Given the description of an element on the screen output the (x, y) to click on. 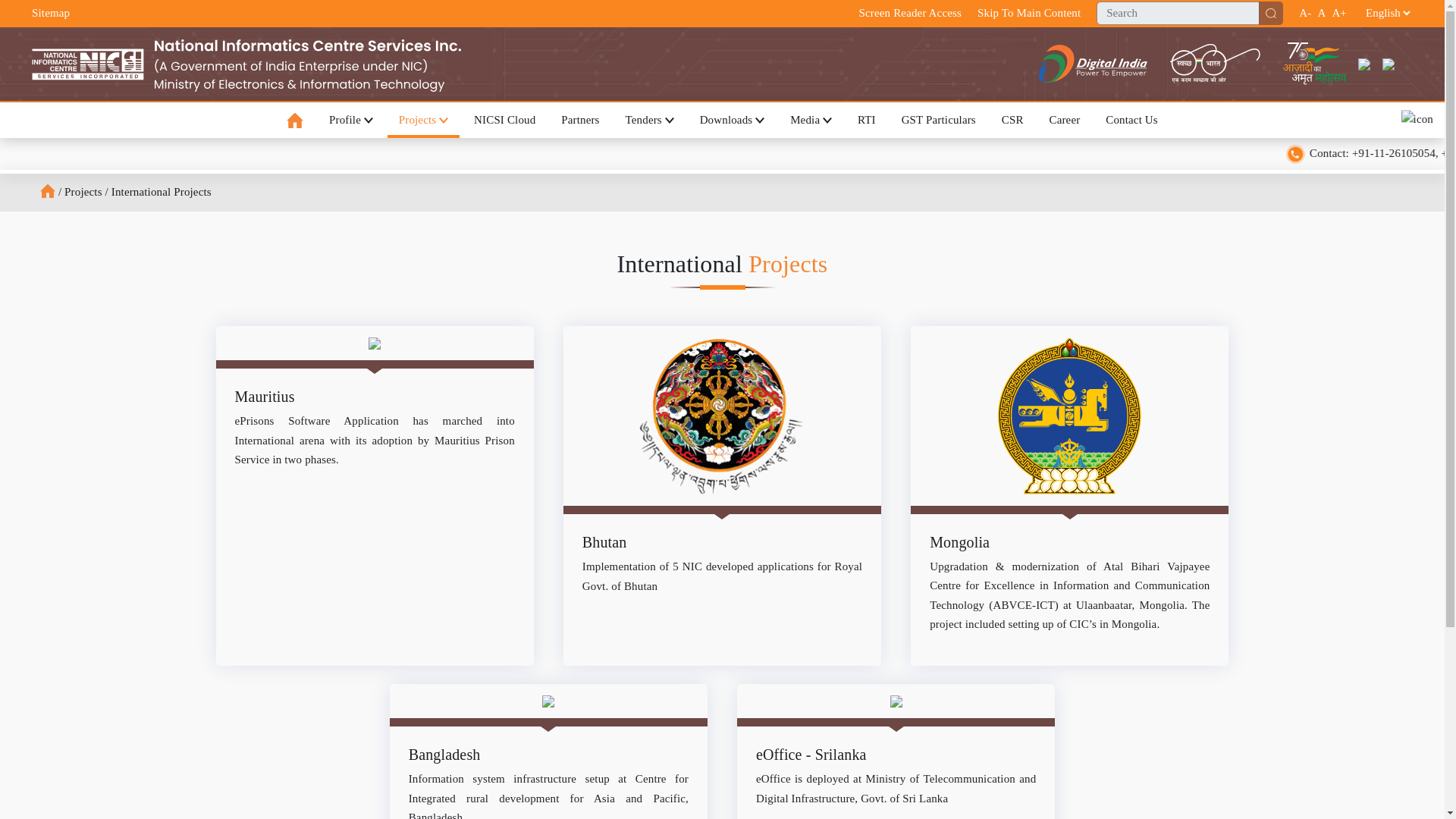
Downloads (732, 120)
Projects (423, 120)
Profile (350, 120)
CSR (1012, 120)
Skip To Main Content (1028, 13)
Screen Reader Access (909, 13)
GST Particulars (938, 120)
Tenders (649, 120)
NICSI Cloud (505, 120)
Sitemap (50, 12)
Media (810, 120)
Career (1063, 120)
Contact Us (1131, 120)
Partners (580, 120)
Change Theme Color (1416, 120)
